Given the description of an element on the screen output the (x, y) to click on. 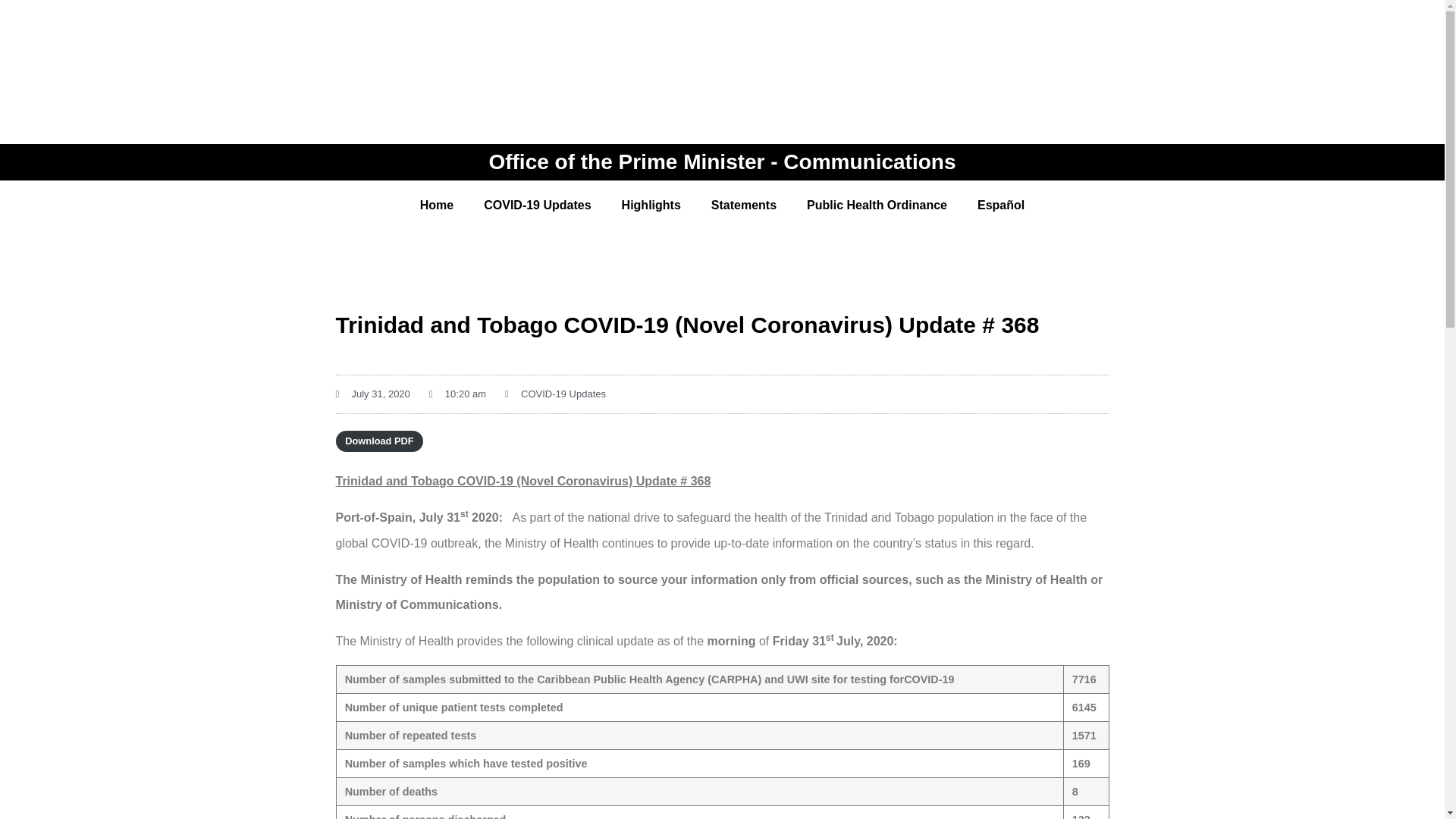
Office of the Prime Minister - Communications (721, 161)
Download PDF (378, 441)
Home (436, 205)
July 31, 2020 (371, 394)
Statements (743, 205)
Highlights (651, 205)
Public Health Ordinance (877, 205)
COVID-19 Updates (563, 393)
COVID-19 Updates (536, 205)
